Given the description of an element on the screen output the (x, y) to click on. 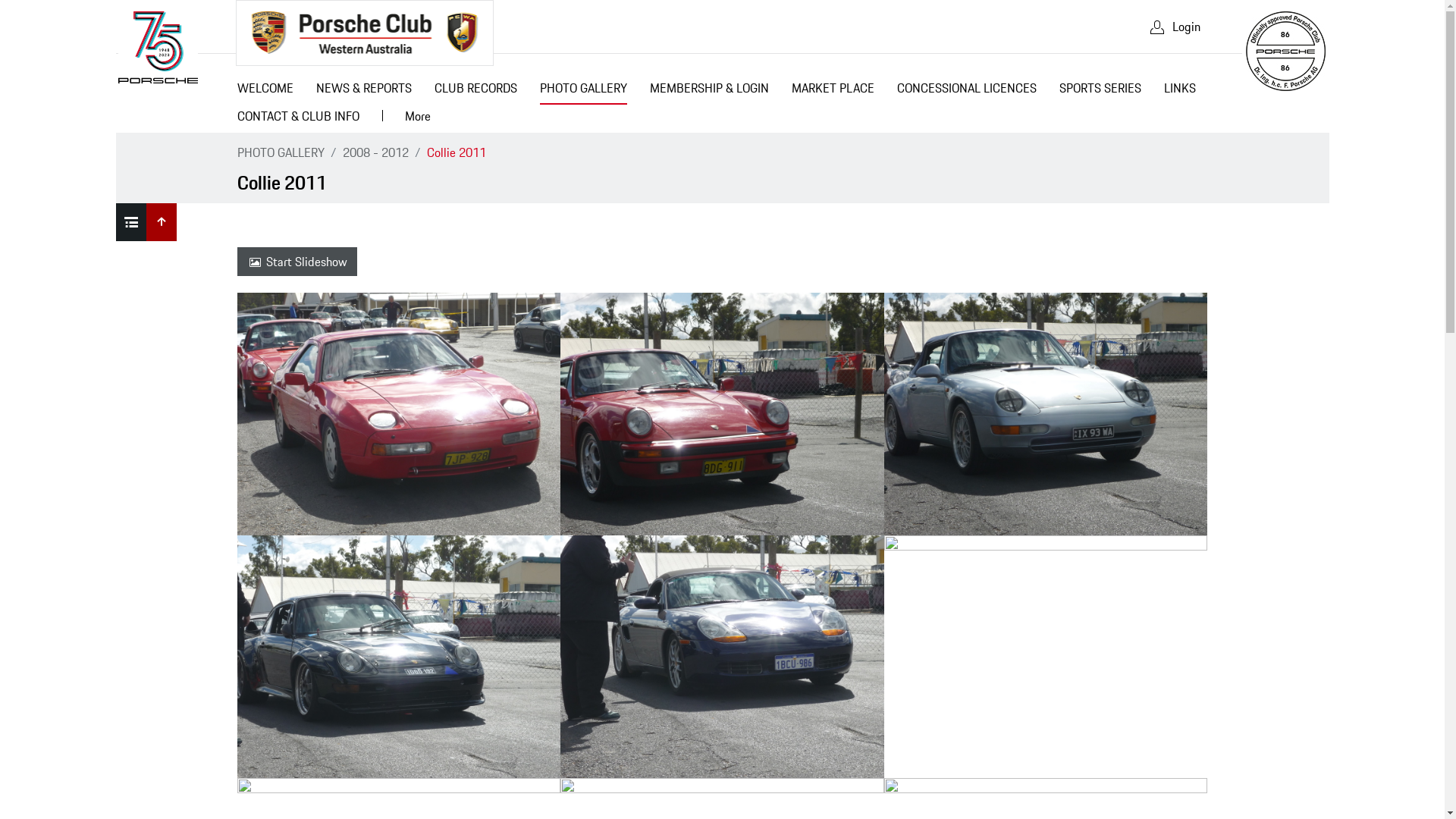
PHOTO GALLERY Element type: text (582, 90)
SPORTS SERIES Element type: text (1100, 90)
NEWS & REPORTS Element type: text (363, 90)
More Element type: text (416, 118)
Porsche Club of Western Australia Element type: hover (363, 32)
 Start Slideshow Element type: text (296, 261)
WELCOME Element type: text (264, 90)
75 Years of Porsche Element type: hover (157, 47)
MEMBERSHIP & LOGIN Element type: text (709, 90)
CONCESSIONAL LICENCES Element type: text (966, 90)
PHOTO GALLERY Element type: text (279, 152)
LINKS Element type: text (1179, 90)
MARKET PLACE Element type: text (831, 90)
2008 - 2012 Element type: text (375, 152)
CONTACT & CLUB INFO Element type: text (297, 118)
Login Element type: text (1174, 26)
Officially approved Porsche Club 86 Element type: hover (1284, 51)
CLUB RECORDS Element type: text (475, 90)
